Given the description of an element on the screen output the (x, y) to click on. 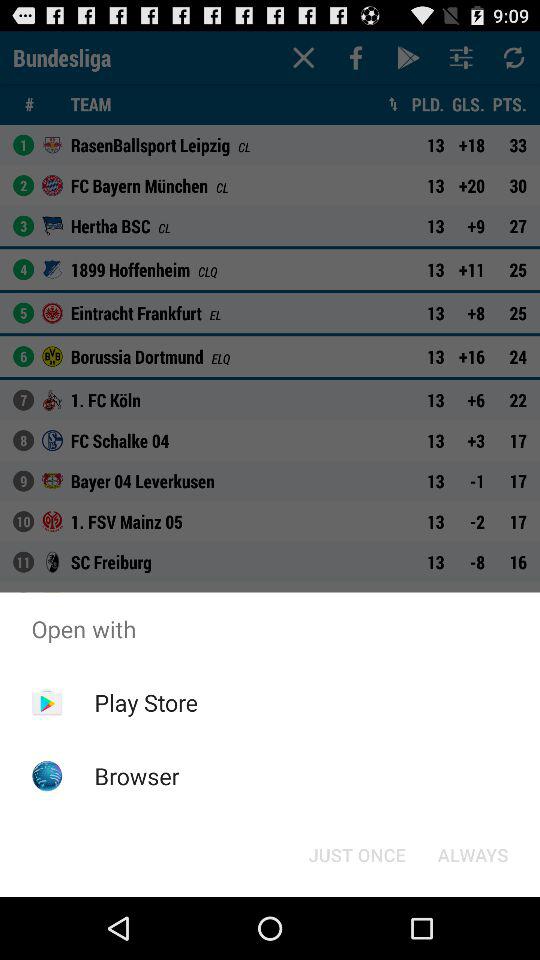
choose icon to the left of the always icon (356, 854)
